Given the description of an element on the screen output the (x, y) to click on. 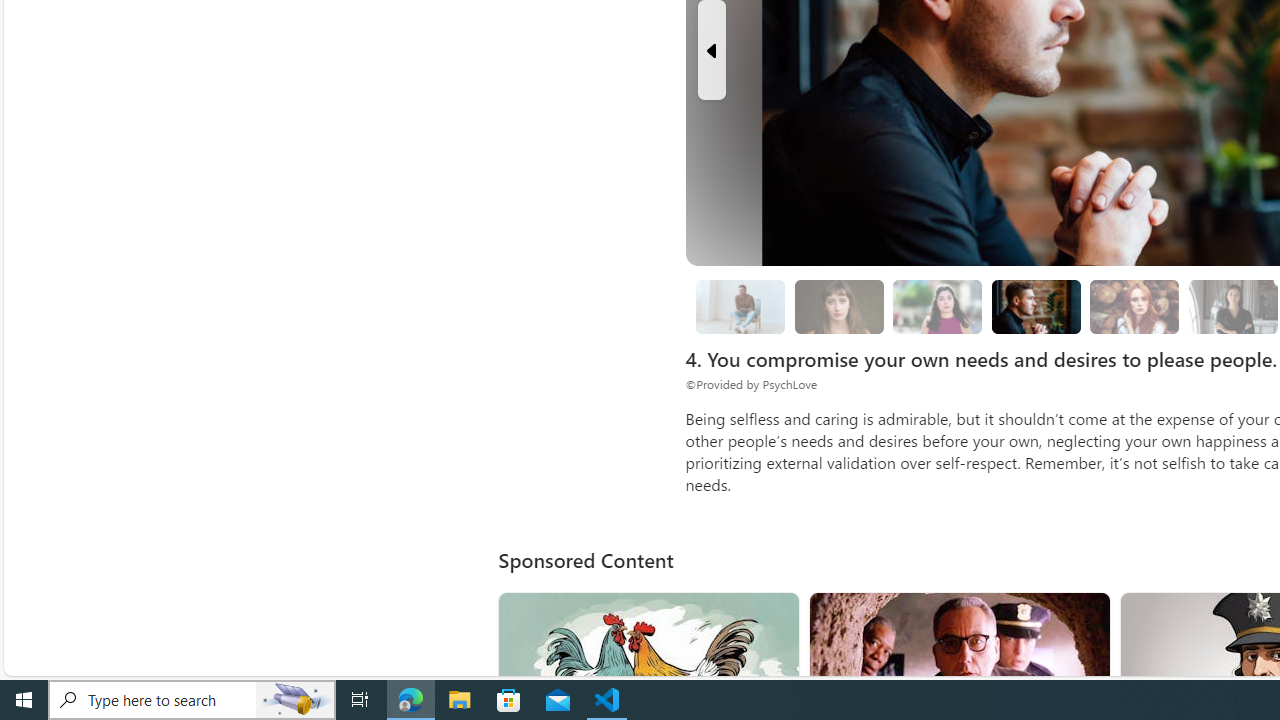
3. Put some thought into it. (740, 307)
8. Surround yourself with solution-oriented people. (1232, 307)
Class: progress (1134, 303)
4. You can name and understand your feelings. (937, 306)
4. You can name and understand your feelings. (938, 307)
3. Put some thought into it. (740, 306)
Previous Slide (711, 50)
